Given the description of an element on the screen output the (x, y) to click on. 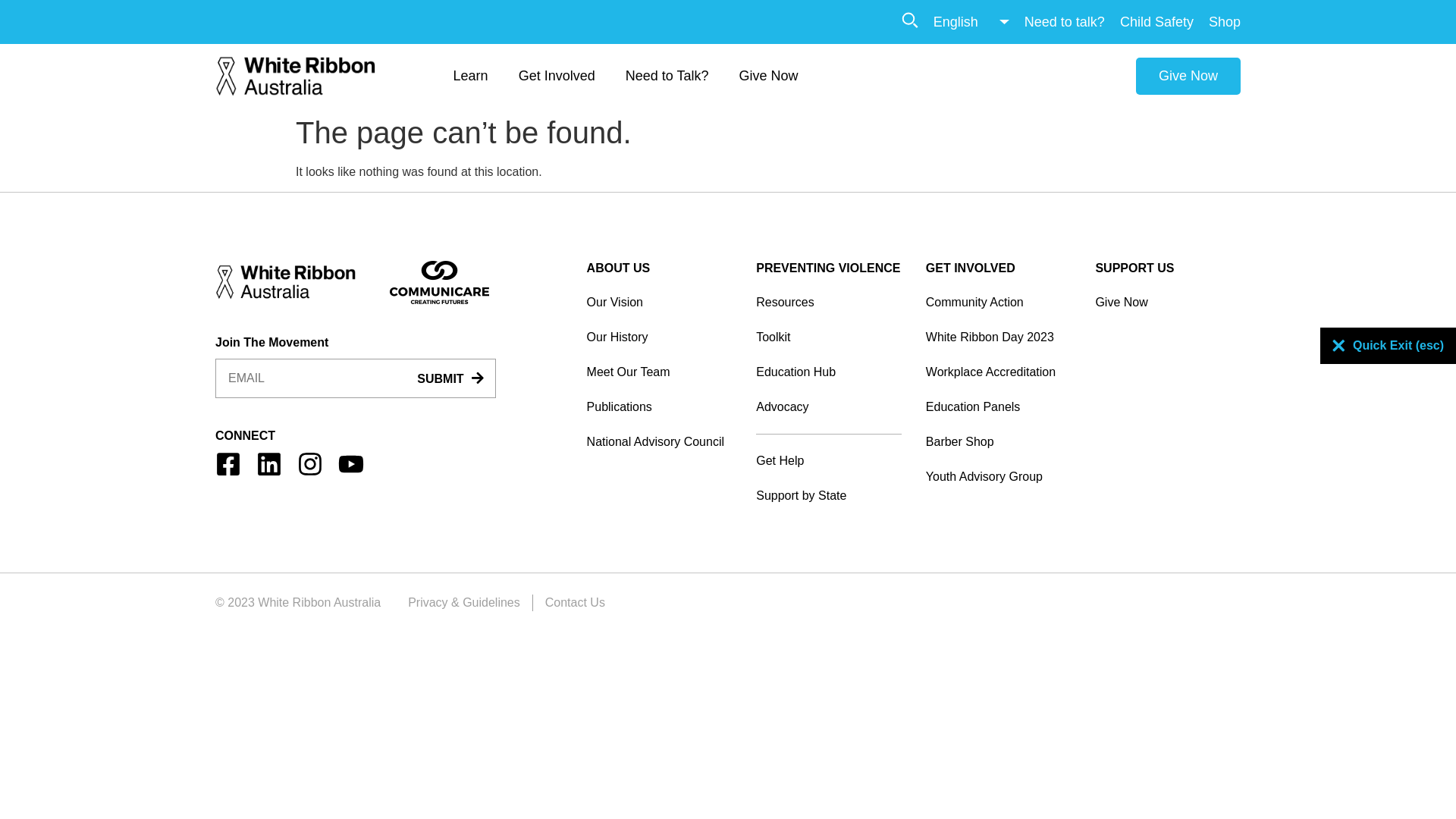
Barber Shop Element type: text (998, 441)
White Ribbon Day 2023 Element type: text (998, 337)
Meet Our Team Element type: text (659, 372)
Community Action Element type: text (998, 302)
Support by State Element type: text (828, 495)
Workplace Accreditation Element type: text (998, 372)
Give Now Element type: text (1167, 302)
Our History Element type: text (659, 337)
Need to Talk? Element type: text (667, 75)
Child Safety Element type: text (1156, 21)
Privacy & Guidelines Element type: text (463, 602)
Learn Element type: text (470, 75)
Education Hub Element type: text (828, 372)
Shop Element type: text (1224, 21)
Need to talk? Element type: text (1064, 21)
Resources Element type: text (828, 302)
PREVENTING VIOLENCE Element type: text (828, 267)
Our Vision Element type: text (659, 302)
Youth Advisory Group Element type: text (998, 476)
Get Help Element type: text (828, 460)
GET INVOLVED Element type: text (970, 267)
Contact Us Element type: text (575, 602)
Publications Element type: text (659, 406)
Toolkit Element type: text (828, 337)
Get Involved Element type: text (556, 75)
SUBMIT Element type: text (450, 378)
Give Now Element type: text (767, 75)
Education Panels Element type: text (998, 406)
National Advisory Council Element type: text (659, 441)
Give Now Element type: text (1187, 75)
Advocacy Element type: text (828, 406)
